Given the description of an element on the screen output the (x, y) to click on. 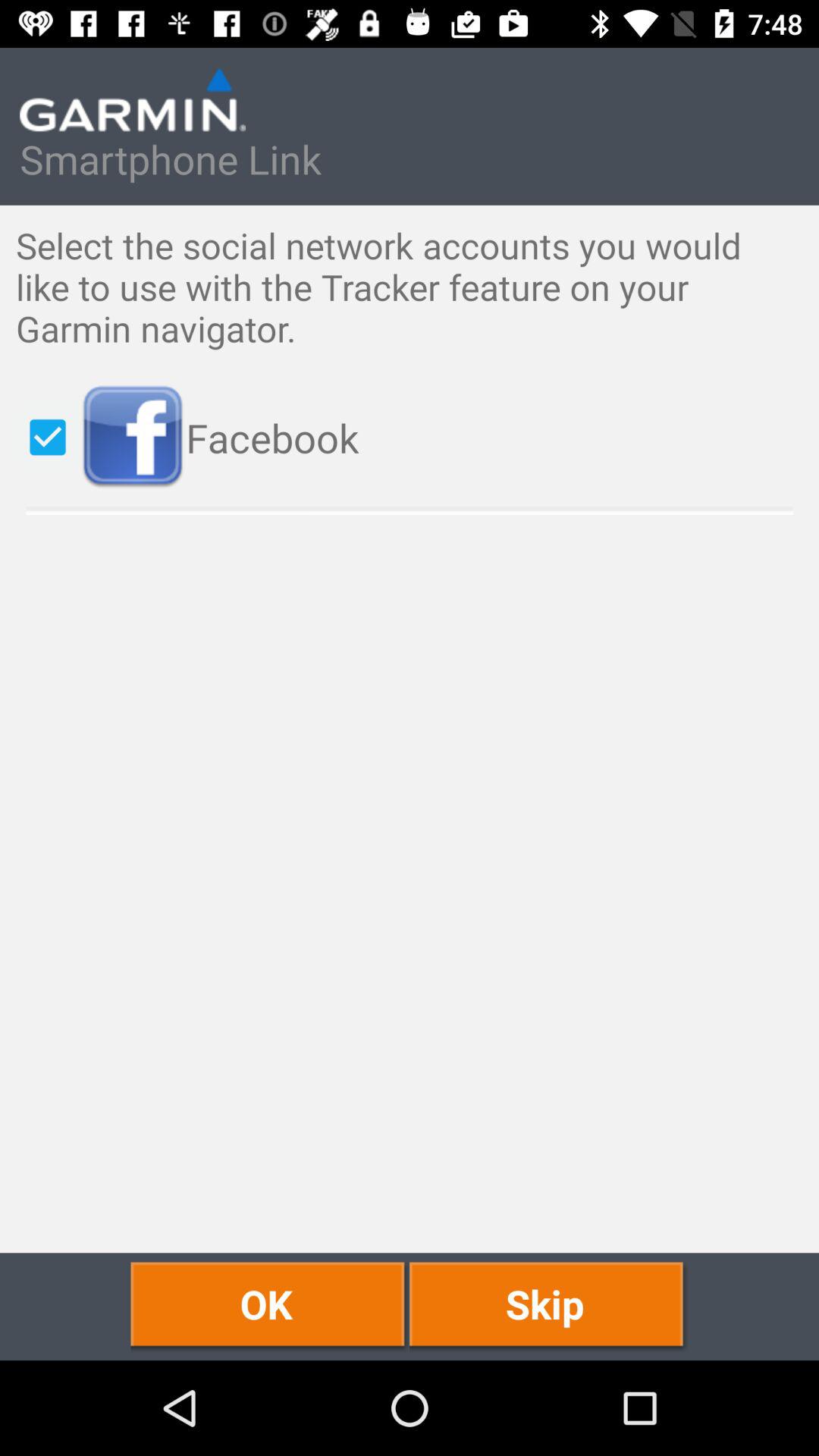
press icon below the select the social (441, 437)
